Given the description of an element on the screen output the (x, y) to click on. 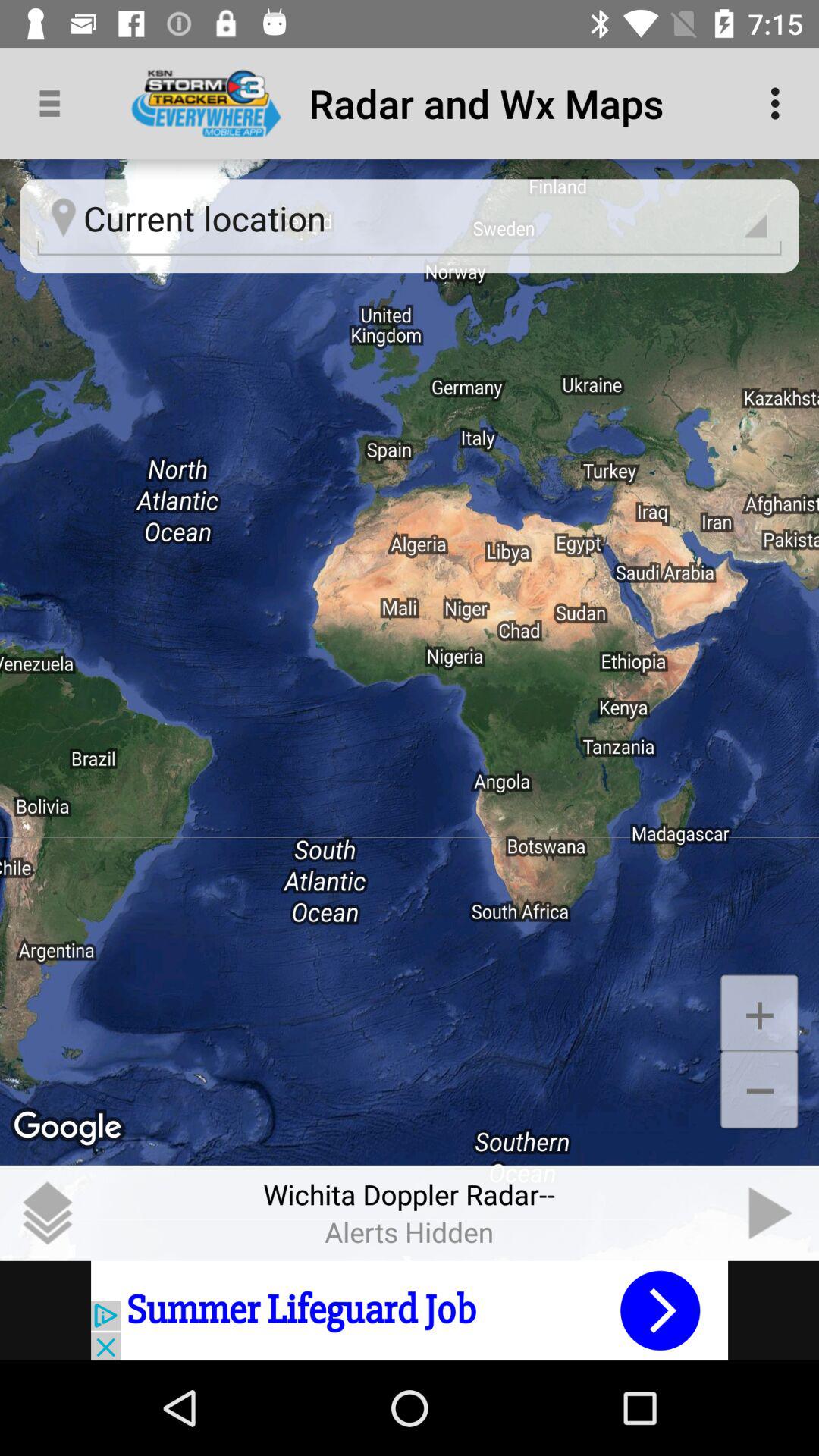
go to previous (771, 1212)
